Given the description of an element on the screen output the (x, y) to click on. 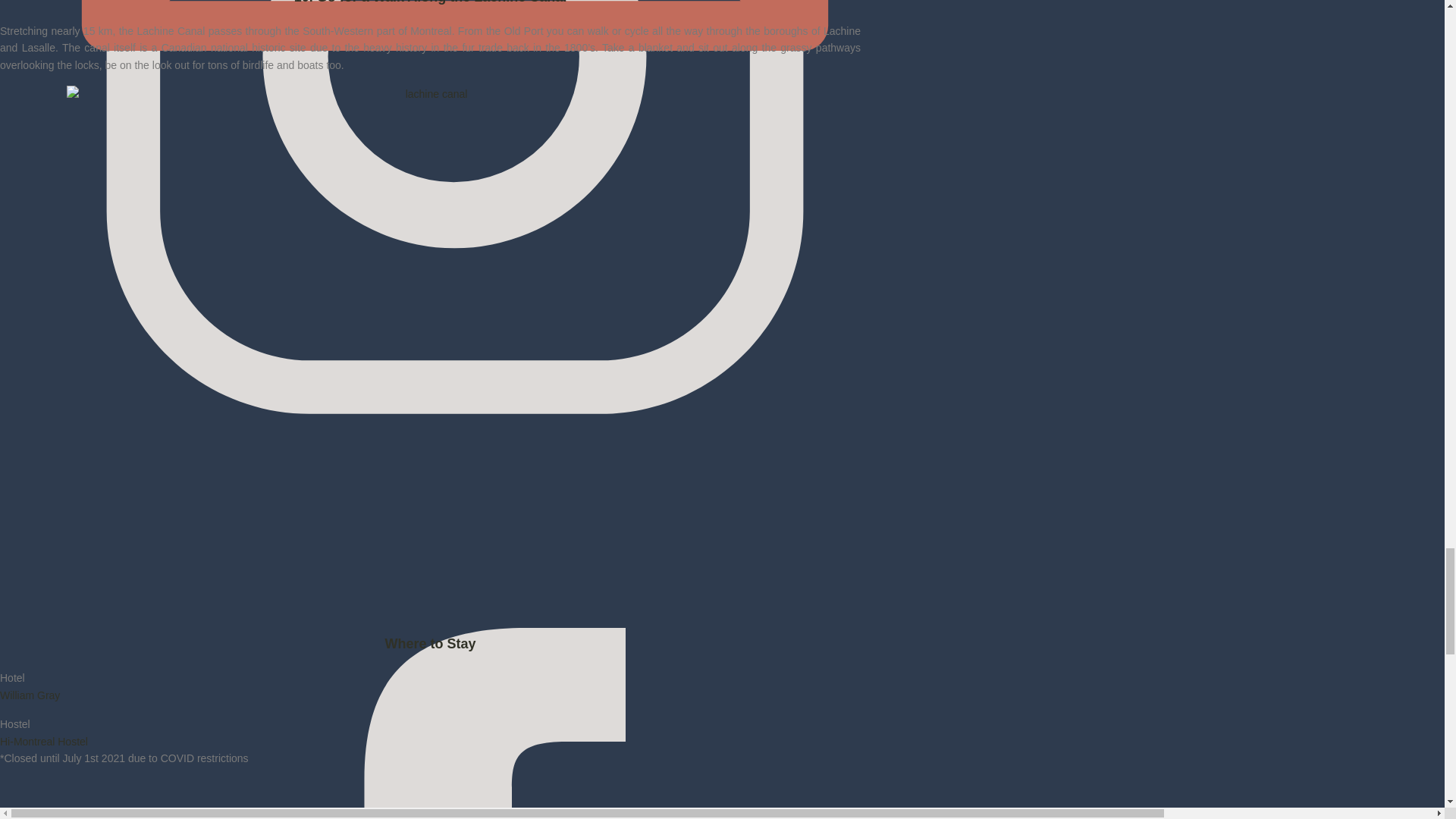
Hi-Montreal Hostel (43, 741)
William Gray (29, 695)
